Given the description of an element on the screen output the (x, y) to click on. 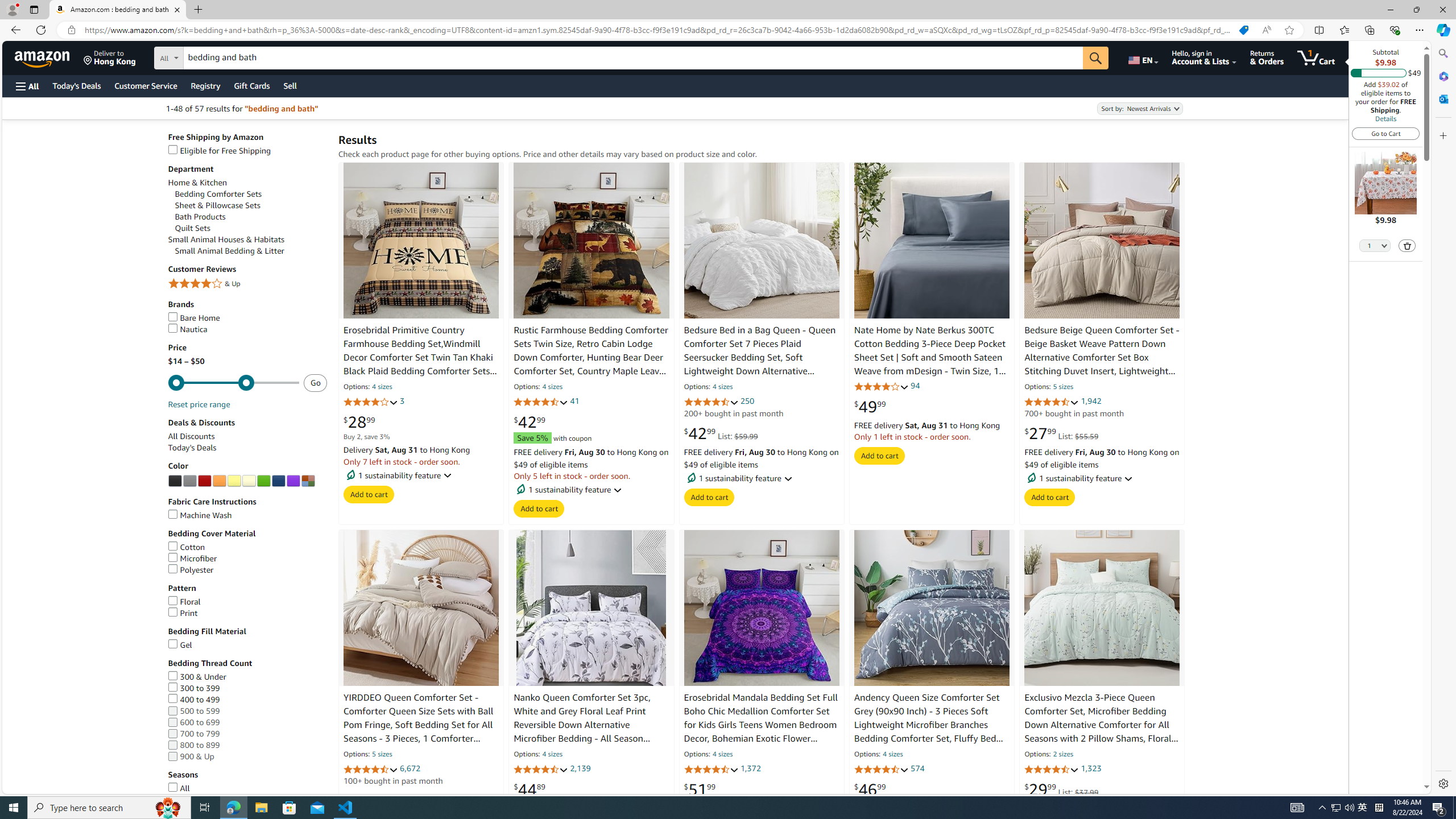
300 to 399 (193, 687)
Orange (218, 481)
Quantity Selector (1374, 245)
Machine Wash (199, 514)
300 & Under (196, 676)
400 to 499 (193, 699)
Bedding Comforter Sets (218, 194)
Sell (290, 85)
Home & Kitchen (197, 182)
Floral (183, 601)
Microfiber (247, 558)
